Given the description of an element on the screen output the (x, y) to click on. 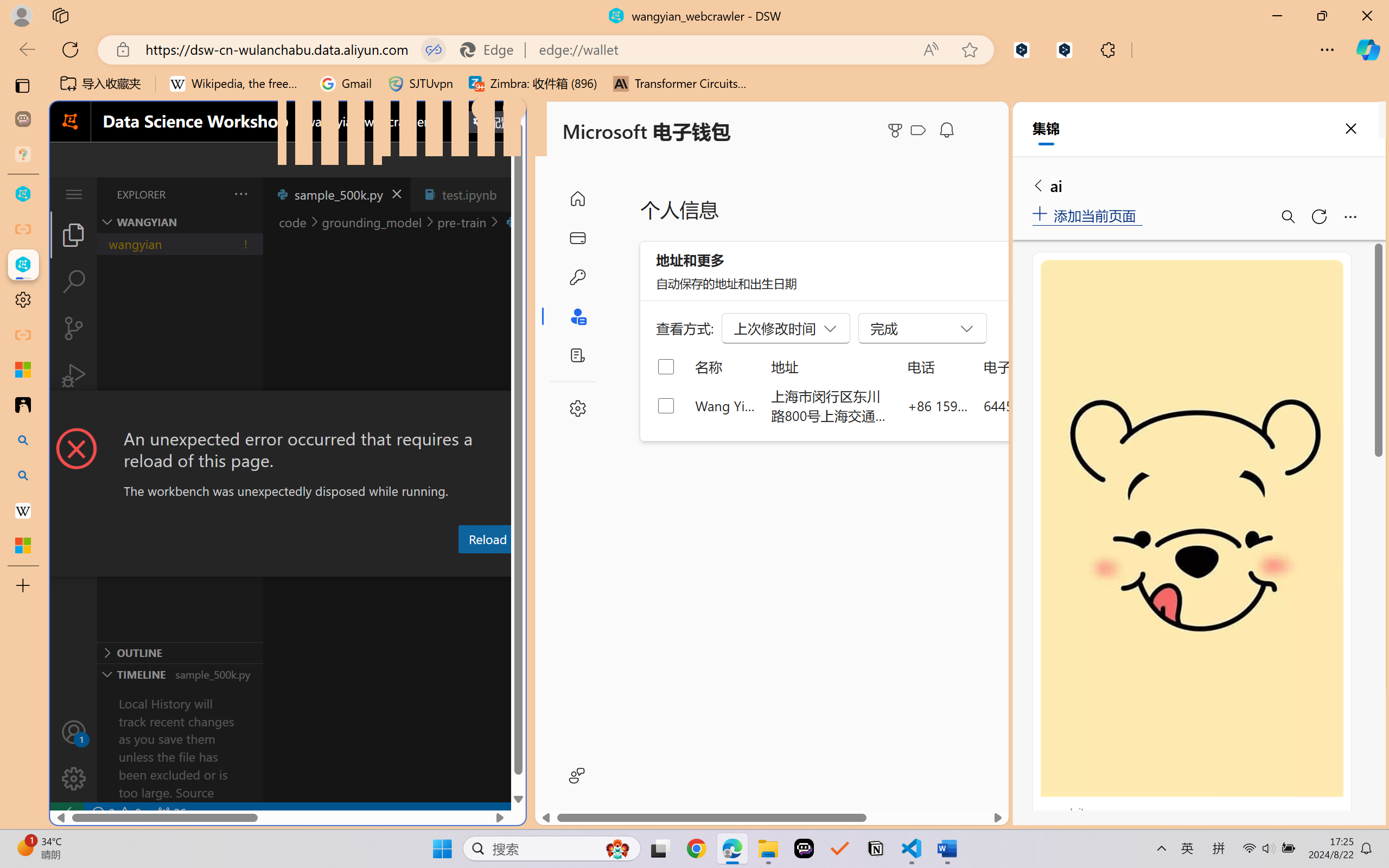
Manage (73, 778)
Edge (492, 49)
Class: ___1lmltc5 f1agt3bx f12qytpq (917, 130)
Tab actions (512, 194)
